Given the description of an element on the screen output the (x, y) to click on. 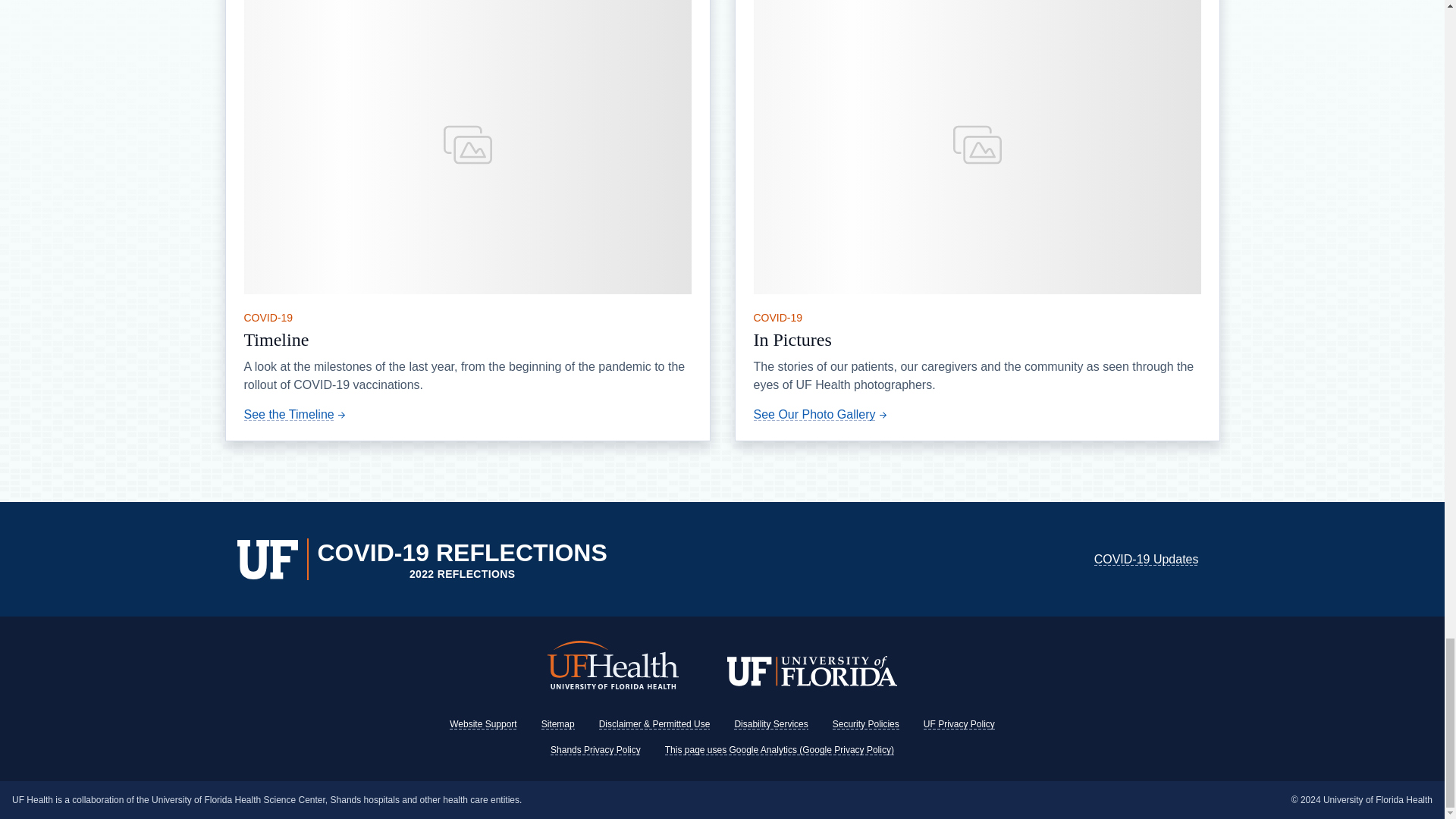
Security Policies (865, 724)
Sitemap (558, 724)
Shands Privacy Policy (595, 749)
Disability Services (770, 724)
COVID-19 Updates (1146, 558)
UF Privacy Policy (958, 724)
See the Timeline (296, 413)
Website Support (482, 724)
See Our Photo Gallery (821, 413)
